Given the description of an element on the screen output the (x, y) to click on. 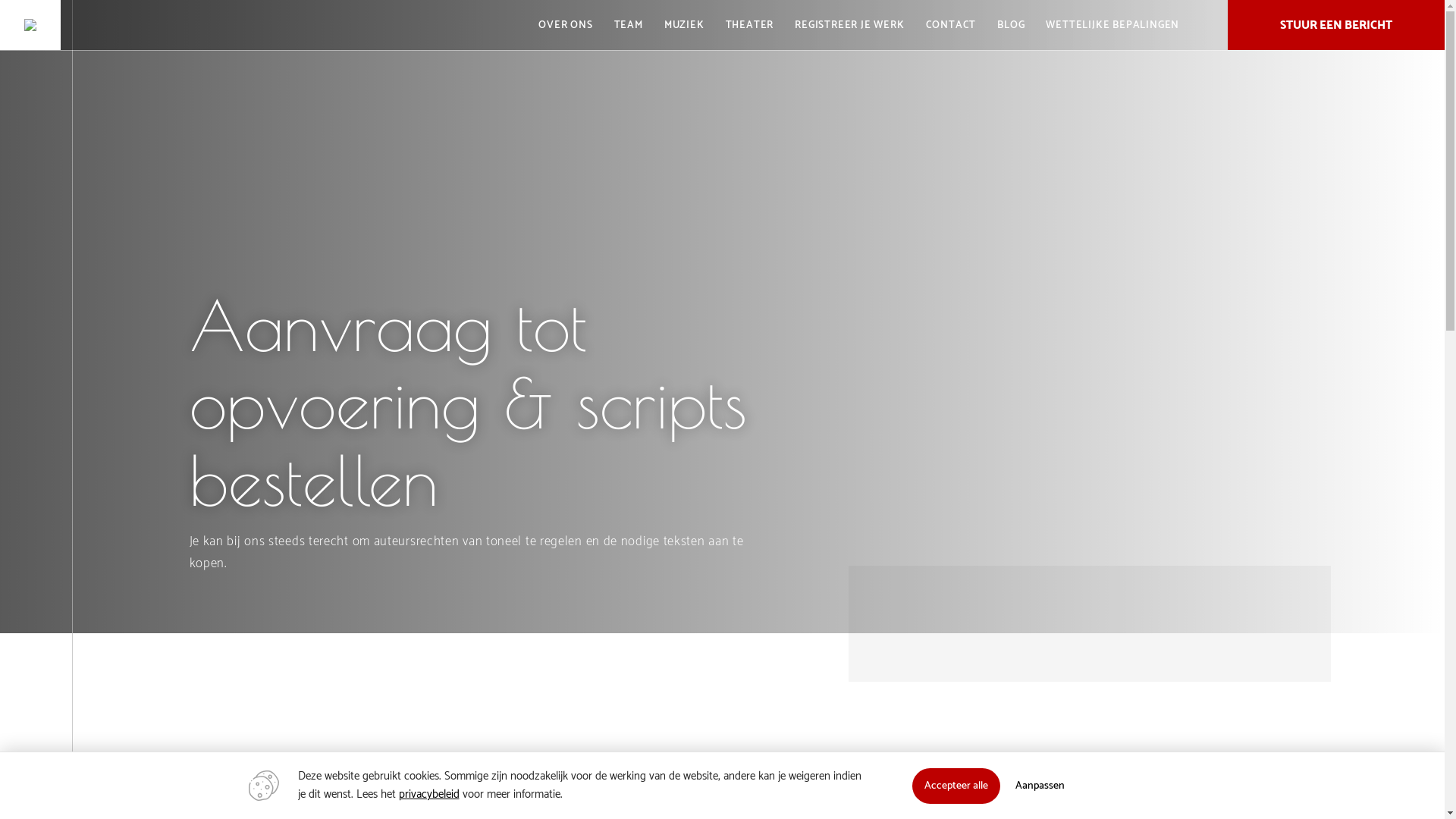
THEATER Element type: text (749, 24)
WETTELIJKE BEPALINGEN Element type: text (1112, 24)
BLOG Element type: text (1010, 24)
MUZIEK Element type: text (684, 24)
CONTACT Element type: text (950, 24)
TEAM Element type: text (628, 24)
STUUR EEN BERICHT Element type: text (1335, 25)
privacybeleid Element type: text (428, 793)
privacy policy Element type: text (749, 417)
Accepteer alle Element type: text (955, 785)
REGISTREER JE WERK Element type: text (849, 24)
OVER ONS Element type: text (565, 24)
Aanpassen Element type: text (1039, 785)
ALMO Element type: hover (30, 25)
